Given the description of an element on the screen output the (x, y) to click on. 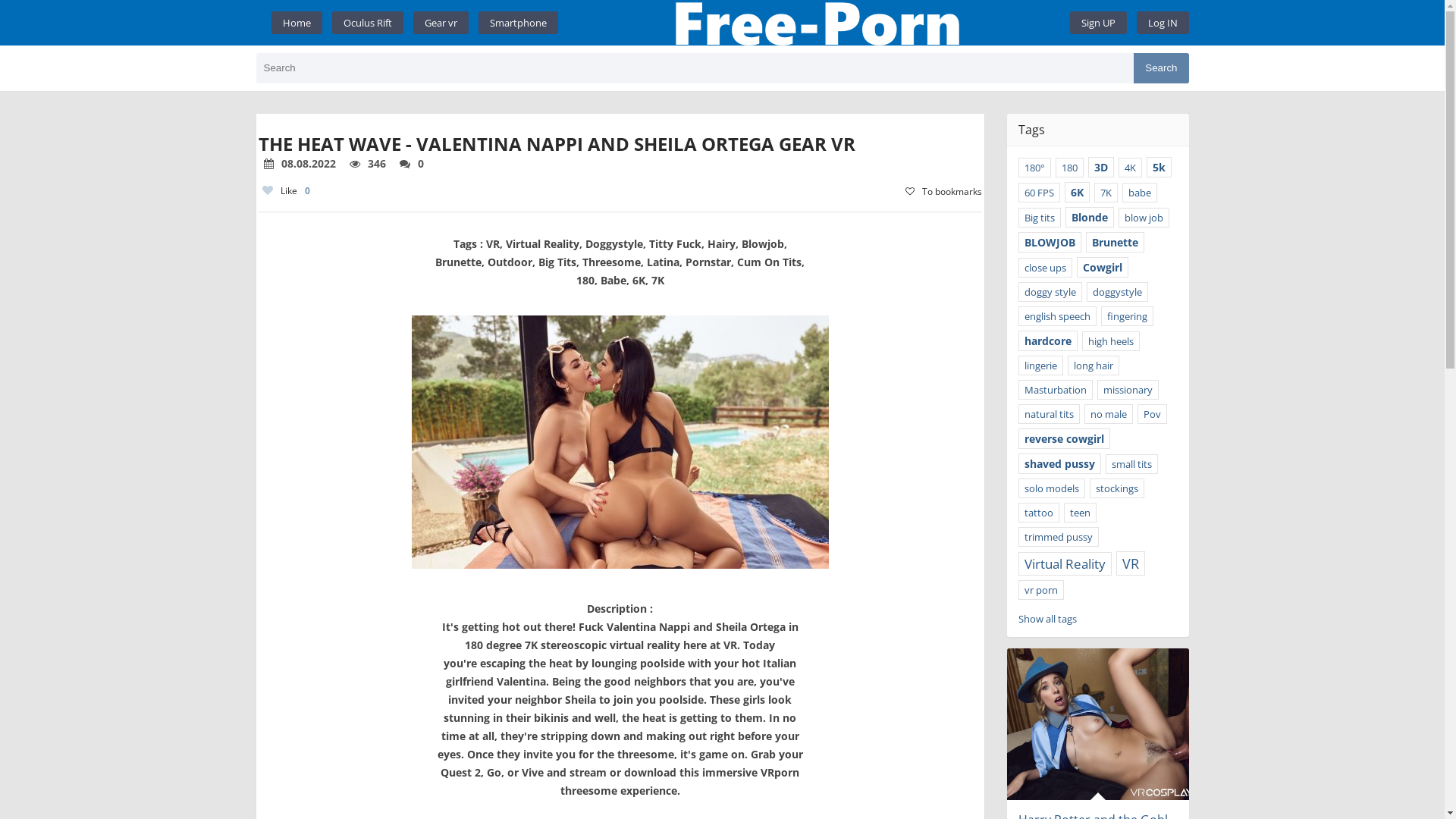
teen Element type: text (1079, 512)
vr porn Element type: text (1040, 589)
doggy style Element type: text (1049, 291)
Masturbation Element type: text (1054, 389)
babe Element type: text (1139, 192)
Oculus Rift Element type: text (367, 22)
tattoo Element type: text (1037, 512)
hardcore Element type: text (1046, 340)
Big tits Element type: text (1038, 217)
solo models Element type: text (1050, 488)
Show all tags Element type: text (1046, 618)
Home Element type: text (296, 22)
Home Element type: hover (813, 22)
lingerie Element type: text (1039, 365)
7K Element type: text (1105, 192)
blow job Element type: text (1142, 217)
Sign UP Element type: text (1097, 22)
Like0 Element type: text (285, 191)
6K Element type: text (1076, 192)
english speech Element type: text (1056, 316)
reverse cowgirl Element type: text (1063, 438)
Virtual Reality Element type: text (1063, 563)
long hair Element type: text (1093, 365)
close ups Element type: text (1044, 267)
high heels Element type: text (1110, 341)
180 Element type: text (1069, 167)
Blonde Element type: text (1088, 217)
missionary Element type: text (1126, 389)
Search Element type: text (1160, 68)
60 FPS Element type: text (1038, 192)
fingering Element type: text (1127, 316)
Brunette Element type: text (1114, 242)
small tits Element type: text (1131, 463)
trimmed pussy Element type: text (1057, 536)
no male Element type: text (1108, 413)
stockings Element type: text (1115, 488)
Gear vr Element type: text (439, 22)
3D Element type: text (1100, 166)
5k Element type: text (1158, 166)
BLOWJOB Element type: text (1048, 242)
Cowgirl Element type: text (1102, 267)
VR Element type: text (1130, 563)
doggystyle Element type: text (1116, 291)
4K Element type: text (1129, 167)
shaved pussy Element type: text (1058, 463)
Smartphone Element type: text (517, 22)
Pov Element type: text (1152, 413)
natural tits Element type: text (1048, 413)
